Given the description of an element on the screen output the (x, y) to click on. 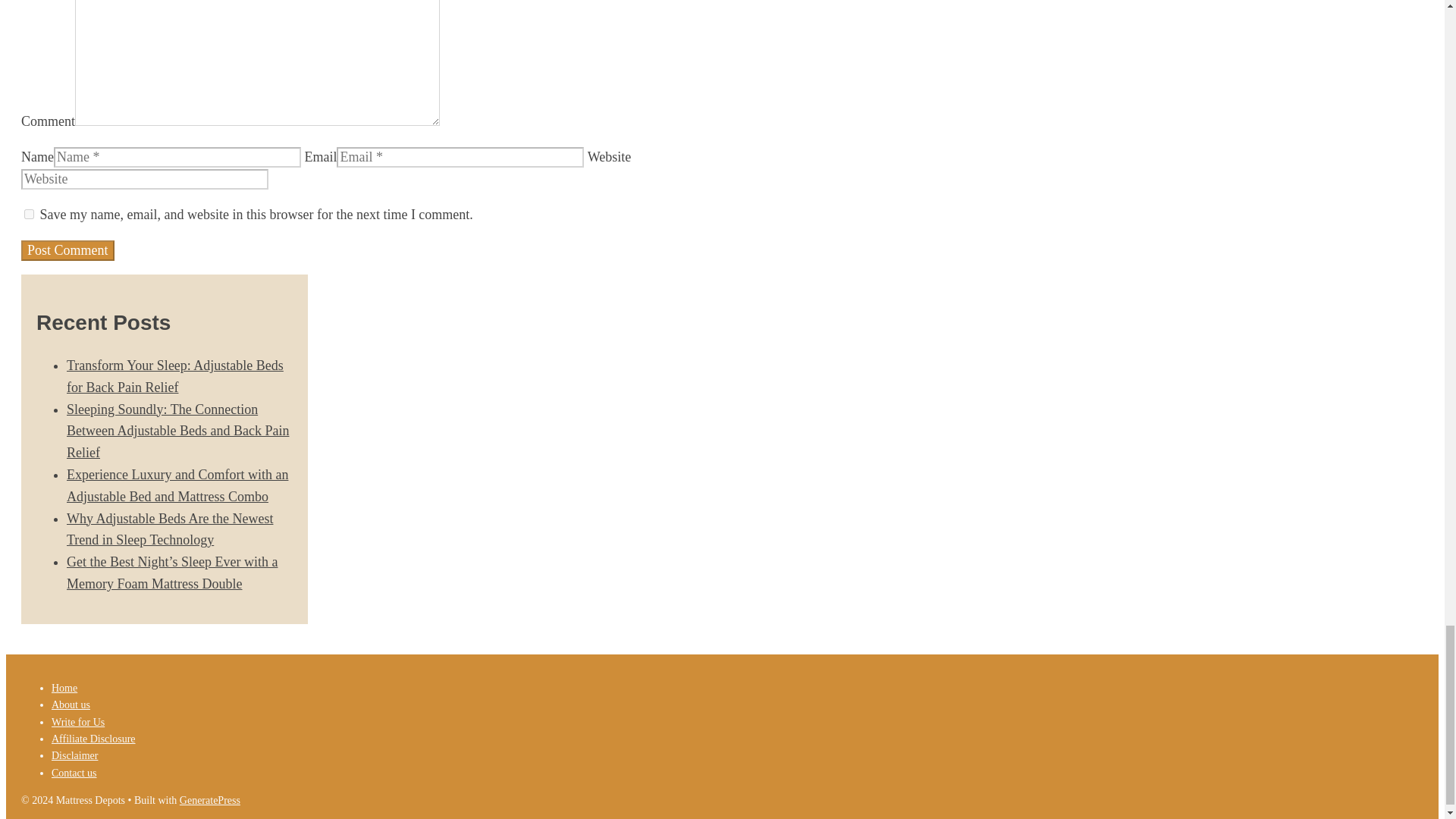
Contact us (73, 772)
Post Comment (68, 250)
Post Comment (68, 250)
Affiliate Disclosure (92, 738)
Home (63, 687)
Write for Us (77, 722)
About us (70, 704)
Transform Your Sleep: Adjustable Beds for Back Pain Relief (174, 375)
